Given the description of an element on the screen output the (x, y) to click on. 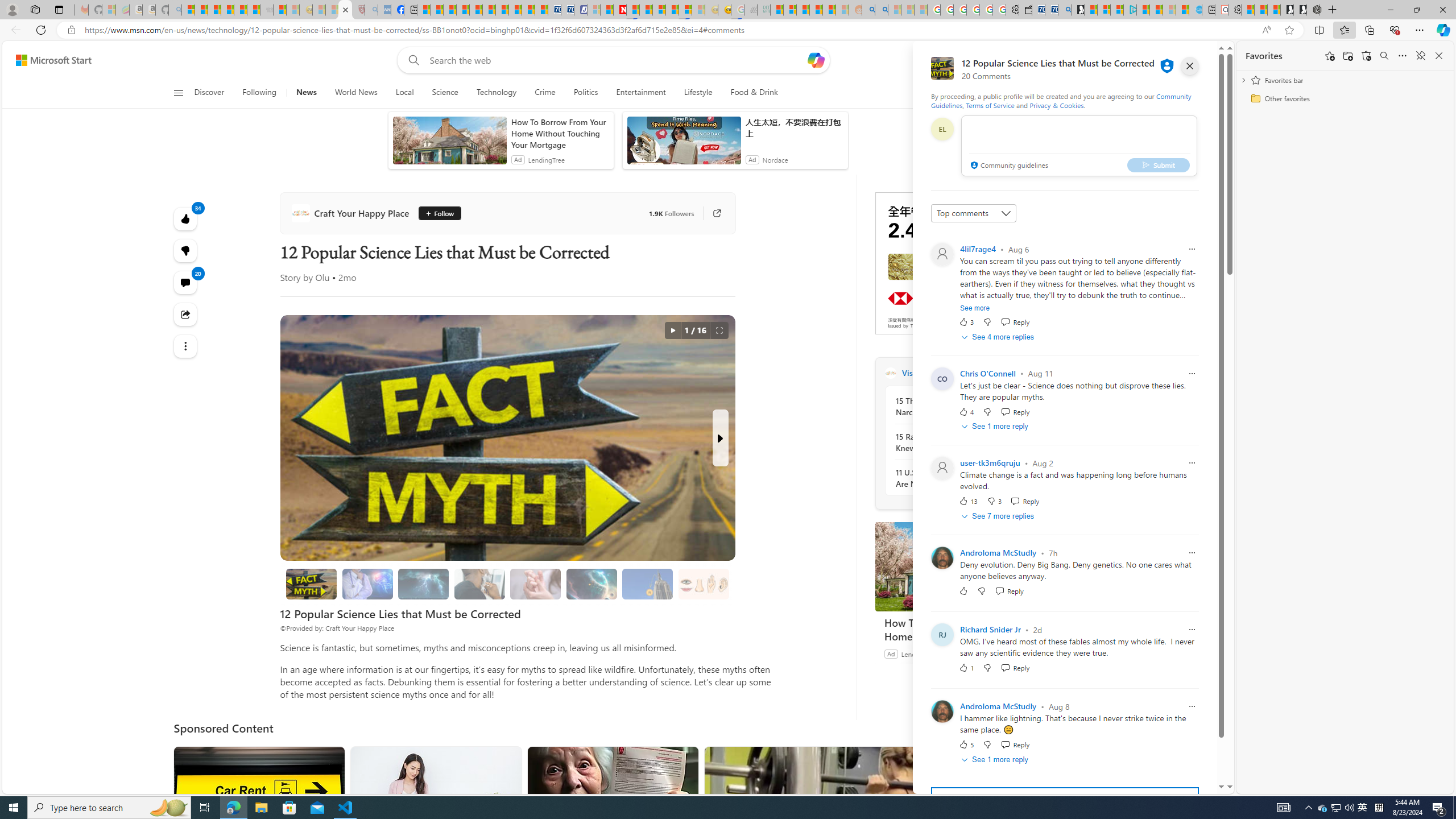
Class: qc-adchoices-link top-right  (1039, 196)
Androloma McStudly (997, 706)
Close favorites (1439, 55)
Chris O'Connell (987, 373)
